Given the description of an element on the screen output the (x, y) to click on. 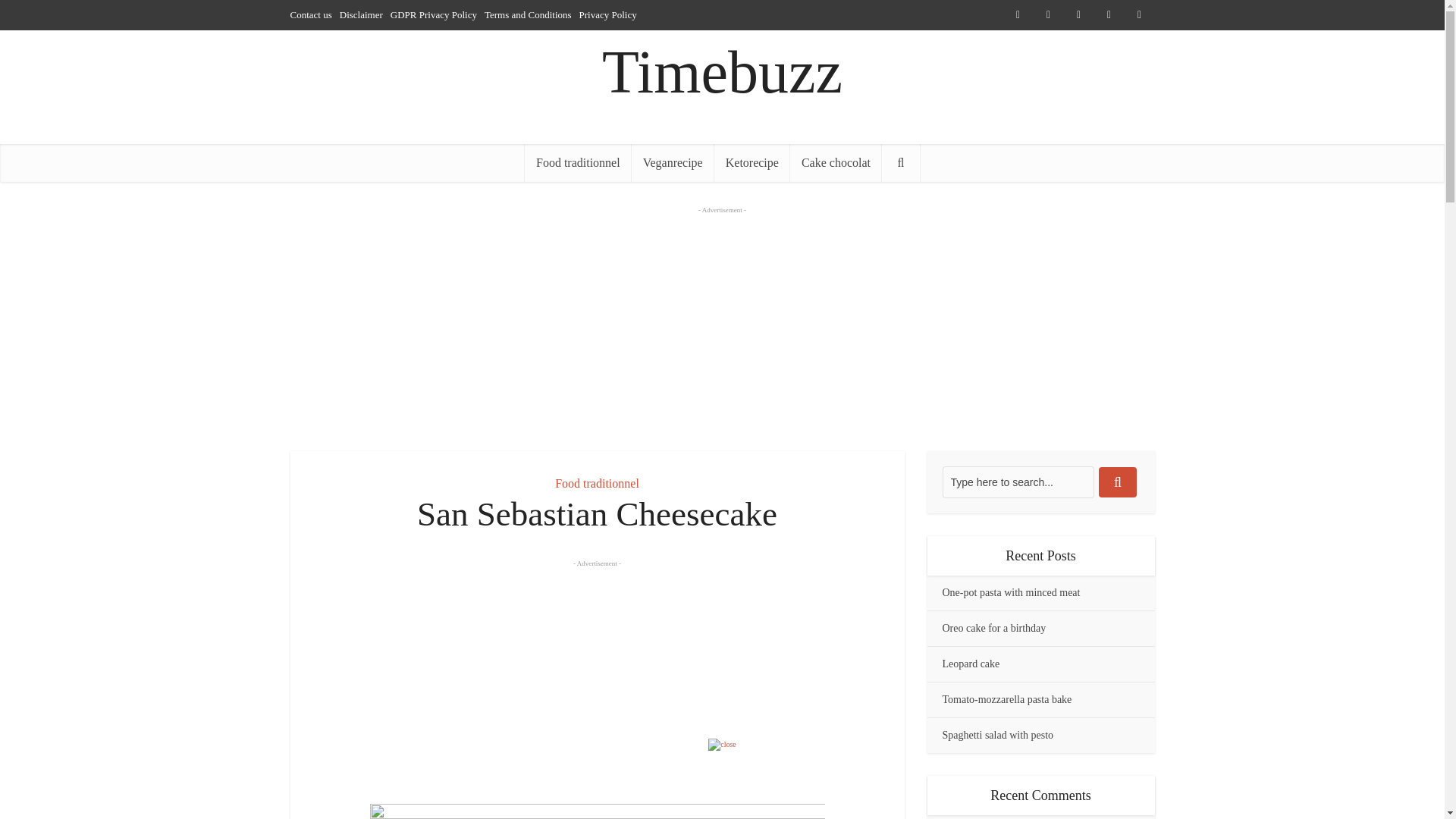
close button (721, 744)
Type here to search... (1017, 481)
Privacy Policy (608, 14)
Terms and Conditions (528, 14)
Type here to search... (1017, 481)
Veganrecipe (672, 162)
Food traditionnel (577, 162)
Food traditionnel (596, 482)
Contact us (310, 14)
Disclaimer (360, 14)
Ketorecipe (752, 162)
Timebuzz (722, 71)
GDPR Privacy Policy (433, 14)
Cake chocolat (836, 162)
